Given the description of an element on the screen output the (x, y) to click on. 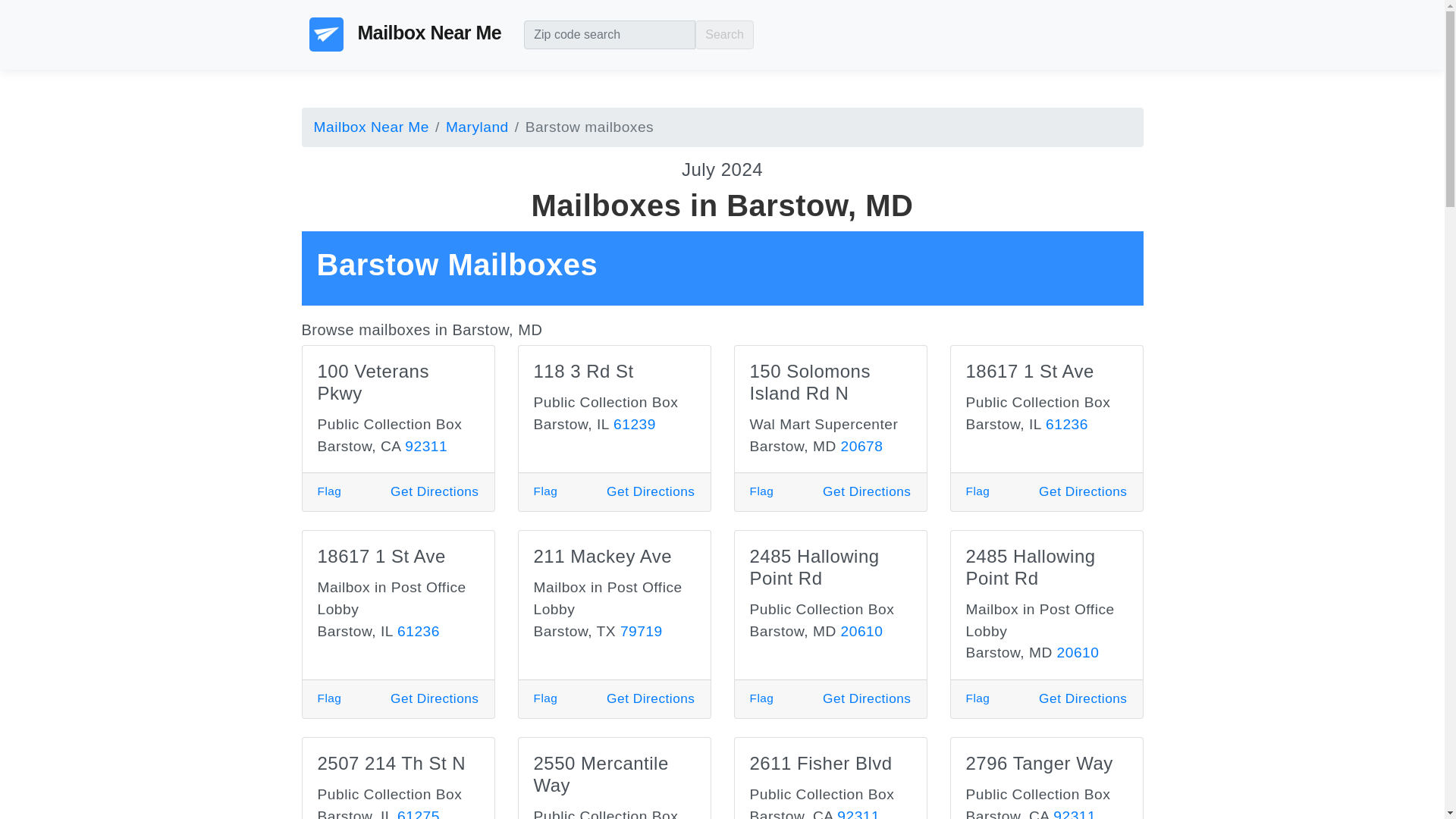
Search (724, 34)
Mailbox Near Me (405, 34)
Flag (761, 490)
Flag (978, 490)
92311 (1074, 813)
61275 (418, 813)
Flag (328, 490)
Get Directions (1082, 491)
Mailbox Near Me (371, 127)
Get Directions (866, 698)
61239 (634, 424)
Flag (545, 490)
20610 (1078, 652)
Get Directions (434, 698)
Flag (545, 697)
